Given the description of an element on the screen output the (x, y) to click on. 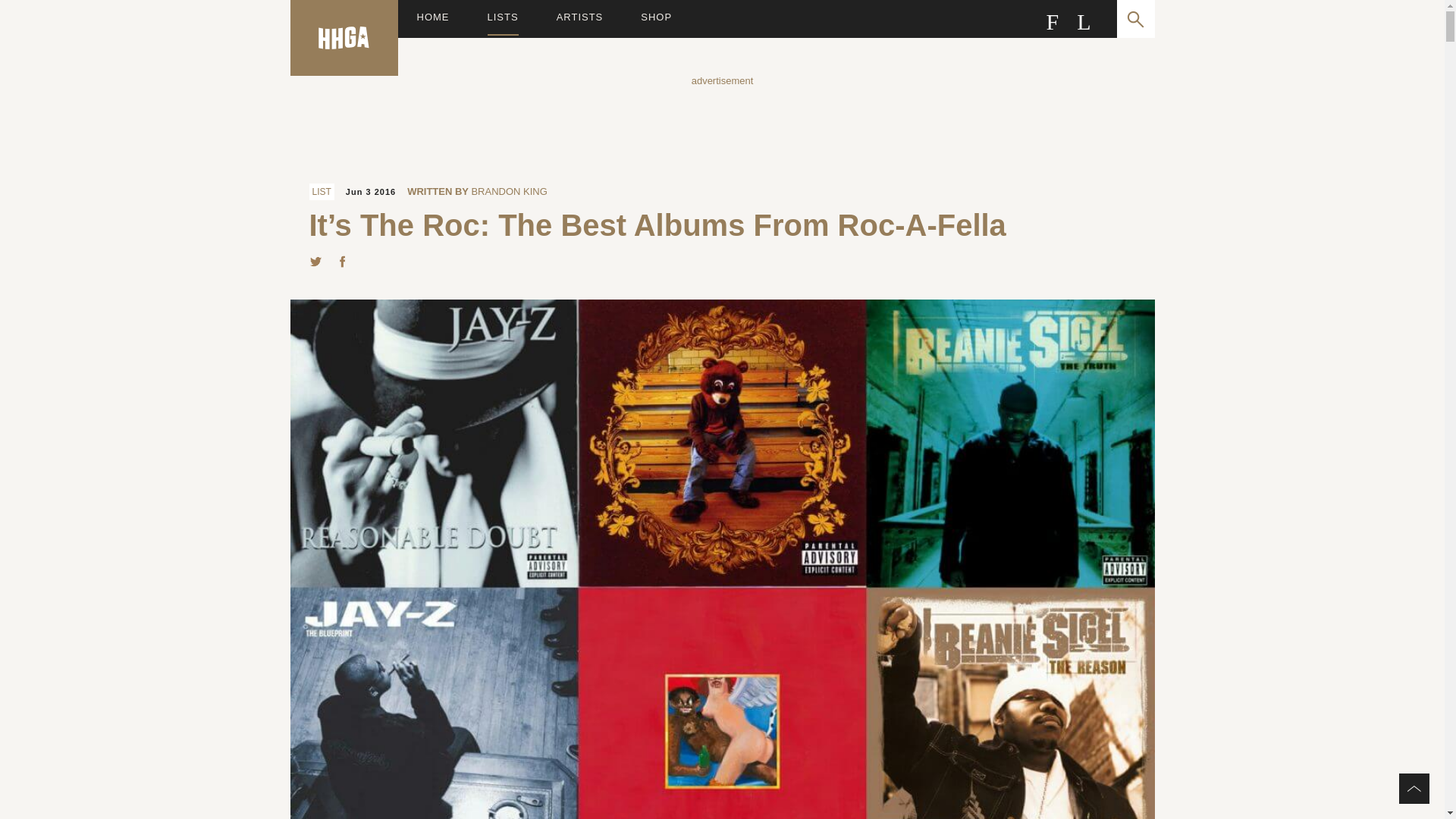
Search (1135, 18)
Scroll To Top (1414, 788)
BRANDON KING (508, 191)
Posts by Brandon King (508, 191)
ARTISTS (580, 18)
HOME (432, 18)
Scroll To Top (1414, 788)
Scroll To Top (1414, 788)
Advertisement (721, 121)
